Given the description of an element on the screen output the (x, y) to click on. 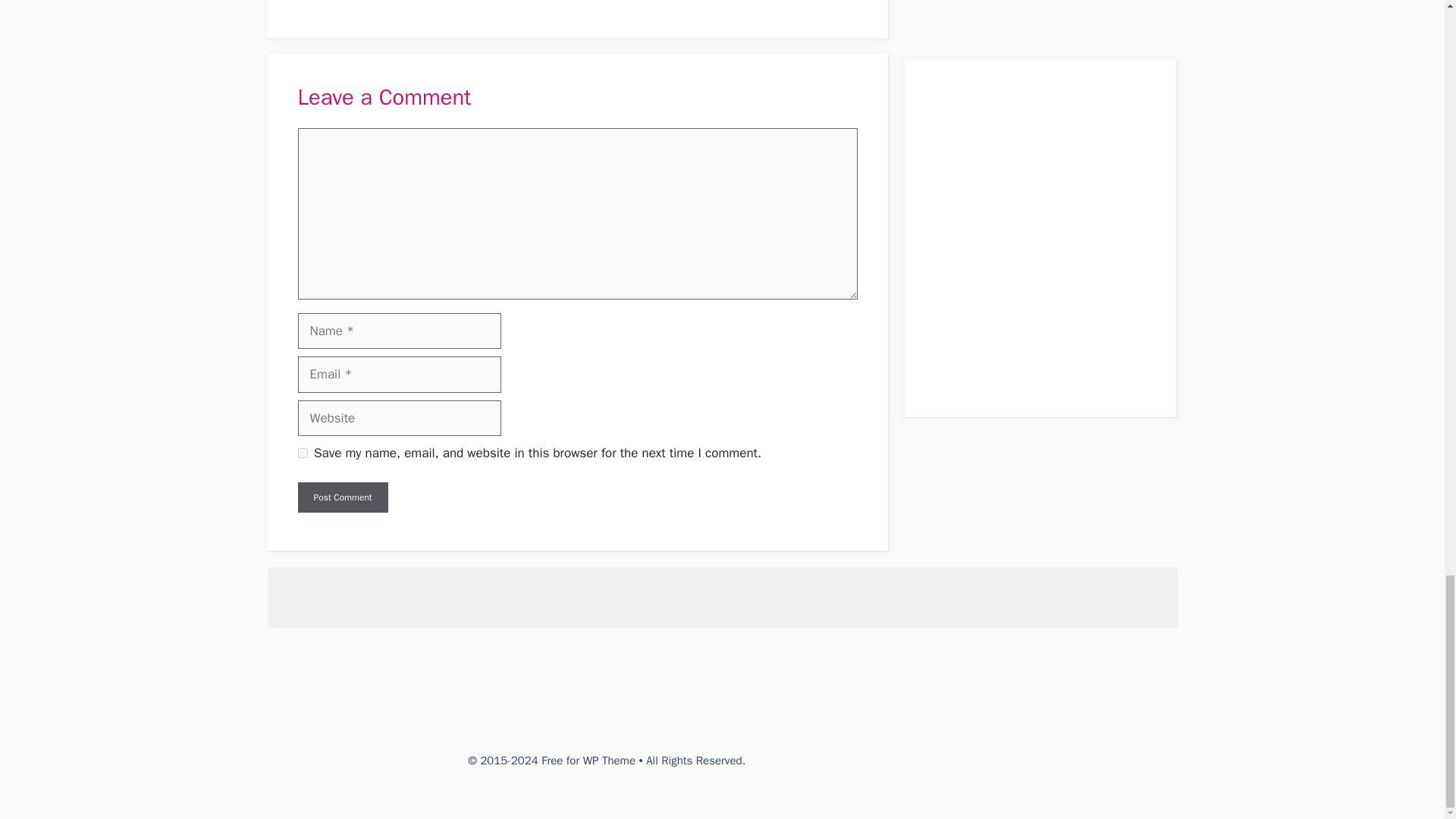
Post Comment (342, 497)
yes (302, 452)
DMCA.com Protection Status (862, 760)
